Given the description of an element on the screen output the (x, y) to click on. 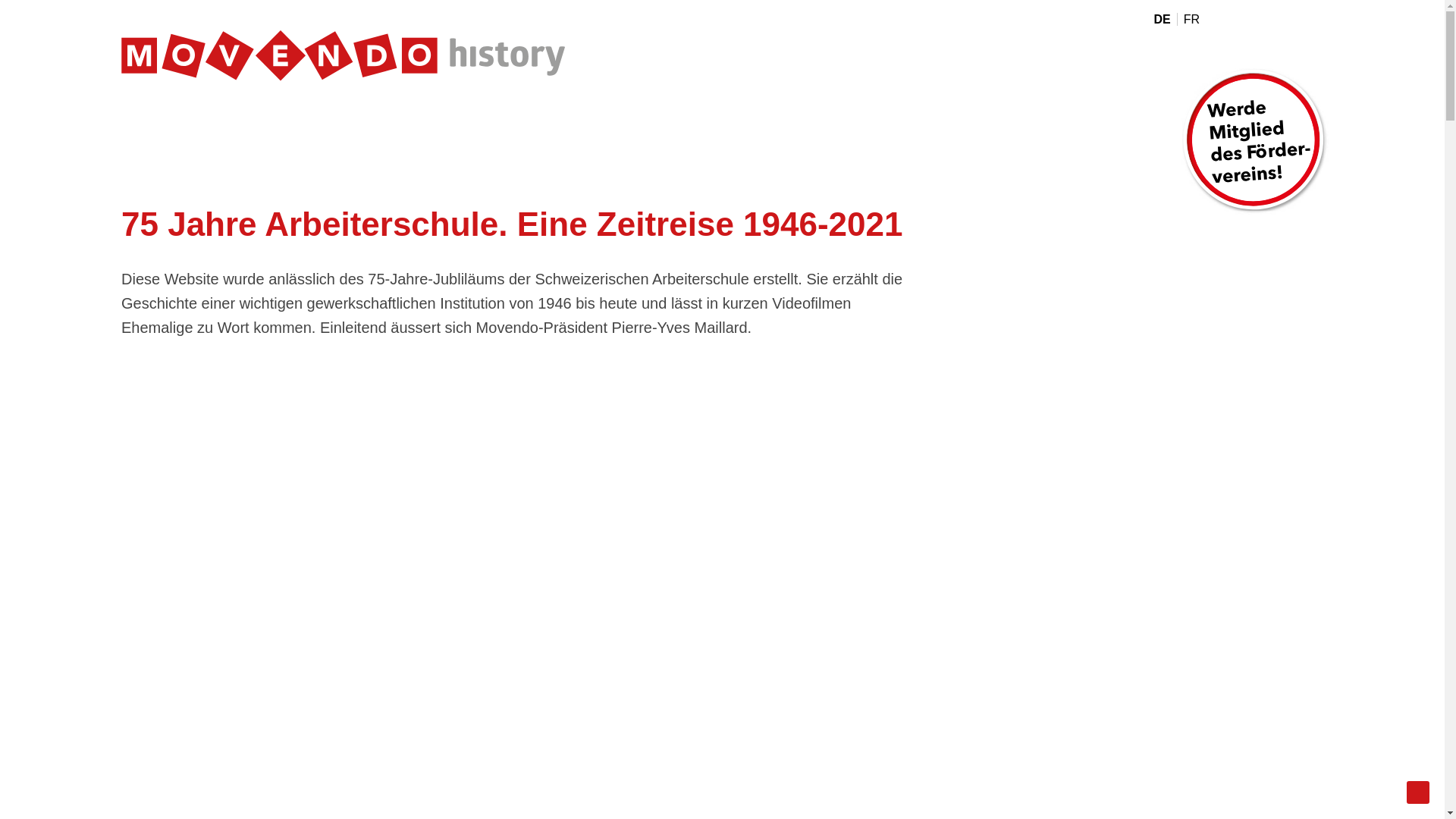
Go to top Element type: hover (1417, 792)
DE Element type: text (1164, 18)
FR Element type: text (1190, 18)
